Given the description of an element on the screen output the (x, y) to click on. 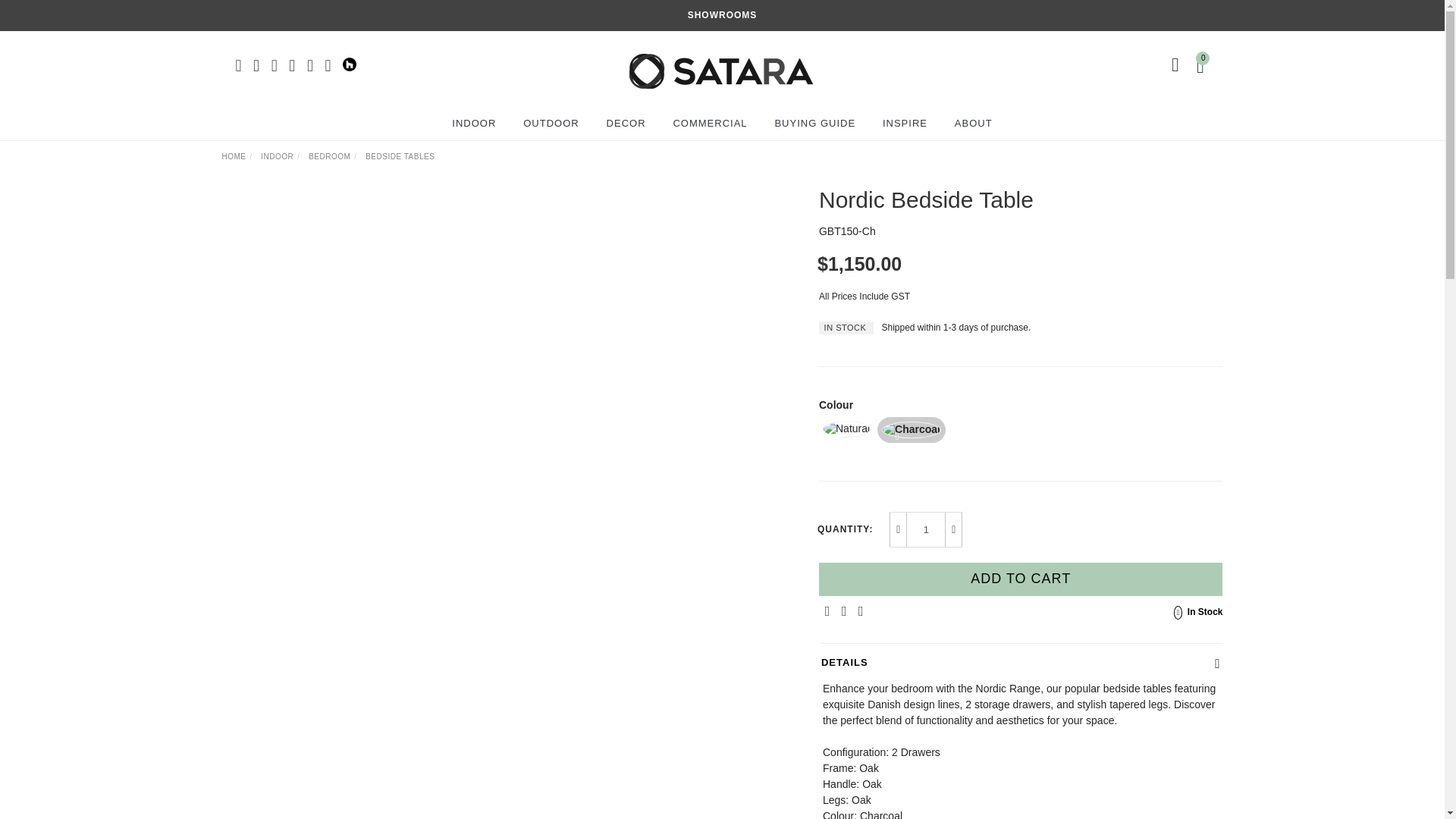
Satara Australia Pty Ltd (720, 64)
INDOOR (473, 123)
Add Nordic Bedside Table to Cart (1020, 579)
0 (1202, 64)
Natural  (846, 428)
1 (926, 529)
Charcoal (910, 429)
SHOWROOMS (722, 14)
